Given the description of an element on the screen output the (x, y) to click on. 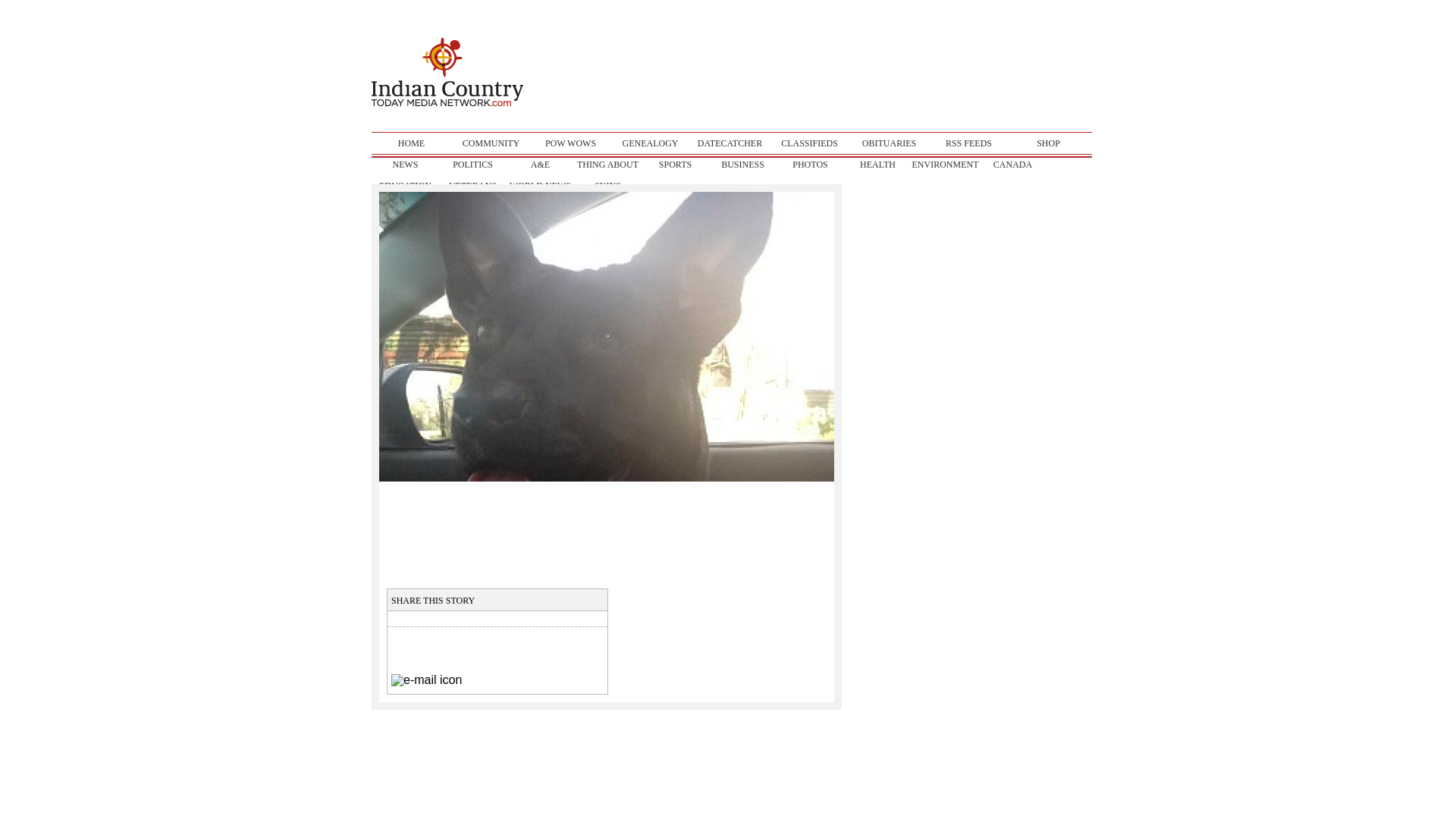
ENVIRONMENT (944, 164)
SPORTS (675, 164)
NEWS (405, 164)
PHOTOS (810, 164)
EDUCATION (405, 185)
BUSINESS (742, 164)
GENEALOGY (650, 142)
DATECATCHER (730, 142)
CANADA (1012, 164)
